Given the description of an element on the screen output the (x, y) to click on. 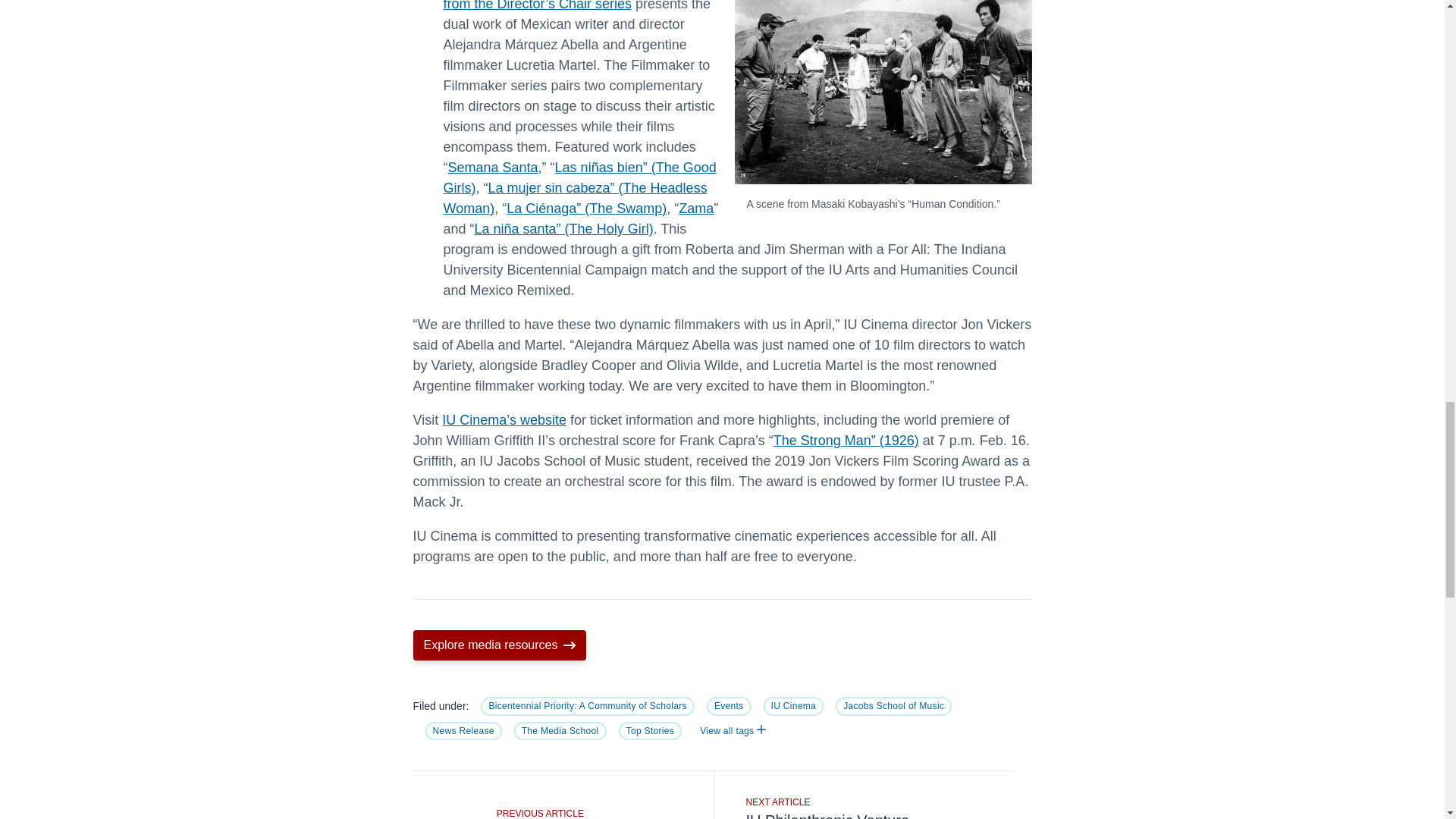
News Release (462, 730)
Plus sign (761, 728)
Explore media resources (499, 644)
Bicentennial Priority: A Community of Scholars (587, 705)
Events (728, 705)
Zama (695, 208)
Semana Santa (491, 167)
Jacobs School of Music (893, 705)
IU Cinema (793, 705)
